Given the description of an element on the screen output the (x, y) to click on. 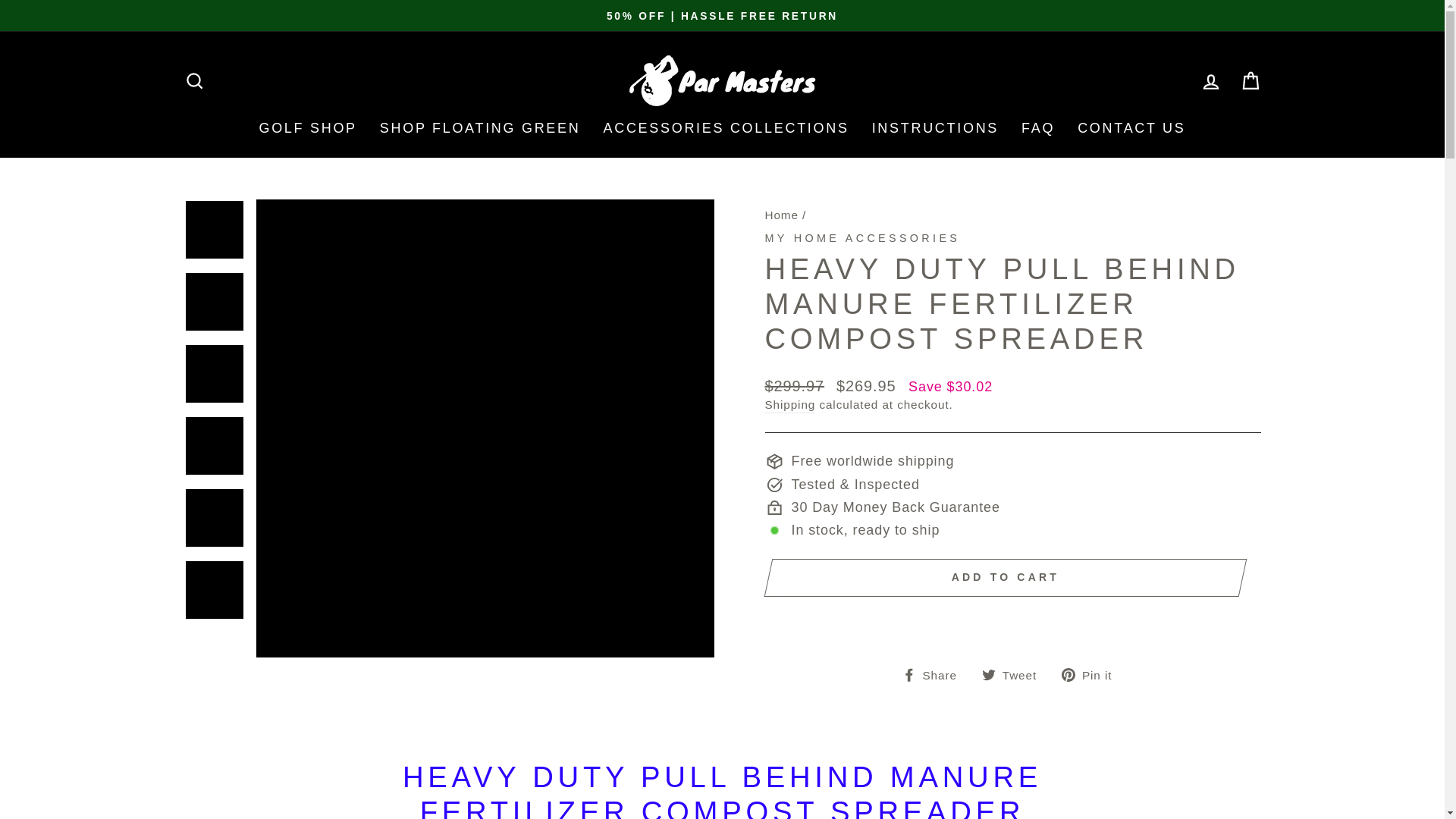
Share on Facebook (935, 674)
Pin on Pinterest (1091, 674)
My Home Accessories (861, 237)
Tweet on Twitter (1014, 674)
Back to the frontpage (780, 214)
